Given the description of an element on the screen output the (x, y) to click on. 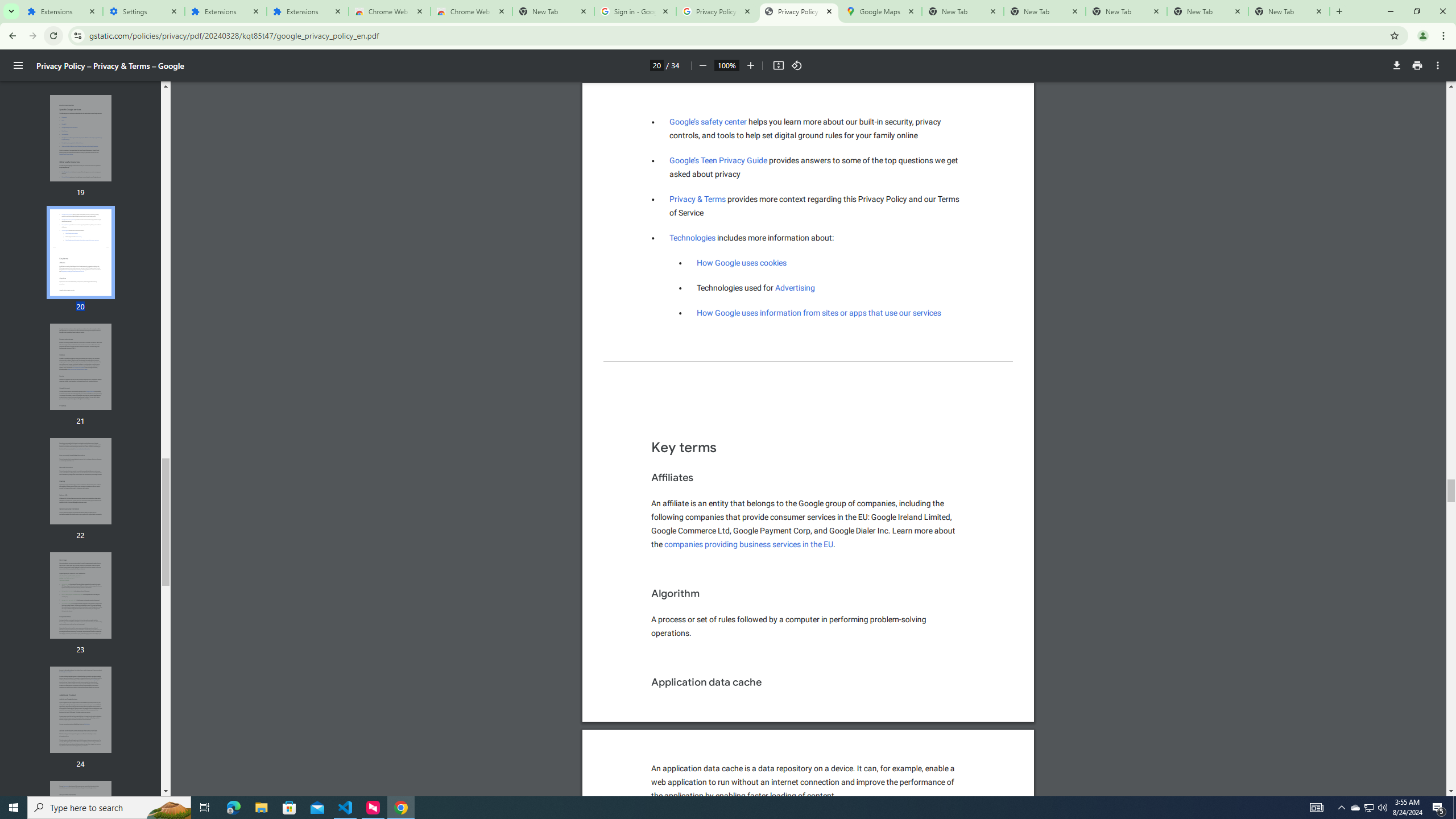
Zoom in (750, 65)
Fit to page (777, 65)
Extensions (225, 11)
Chrome Web Store - Themes (470, 11)
Thumbnail for page 24 (80, 709)
Thumbnail for page 22 (80, 481)
Extensions (61, 11)
Print (1416, 65)
Google Maps (880, 11)
